Given the description of an element on the screen output the (x, y) to click on. 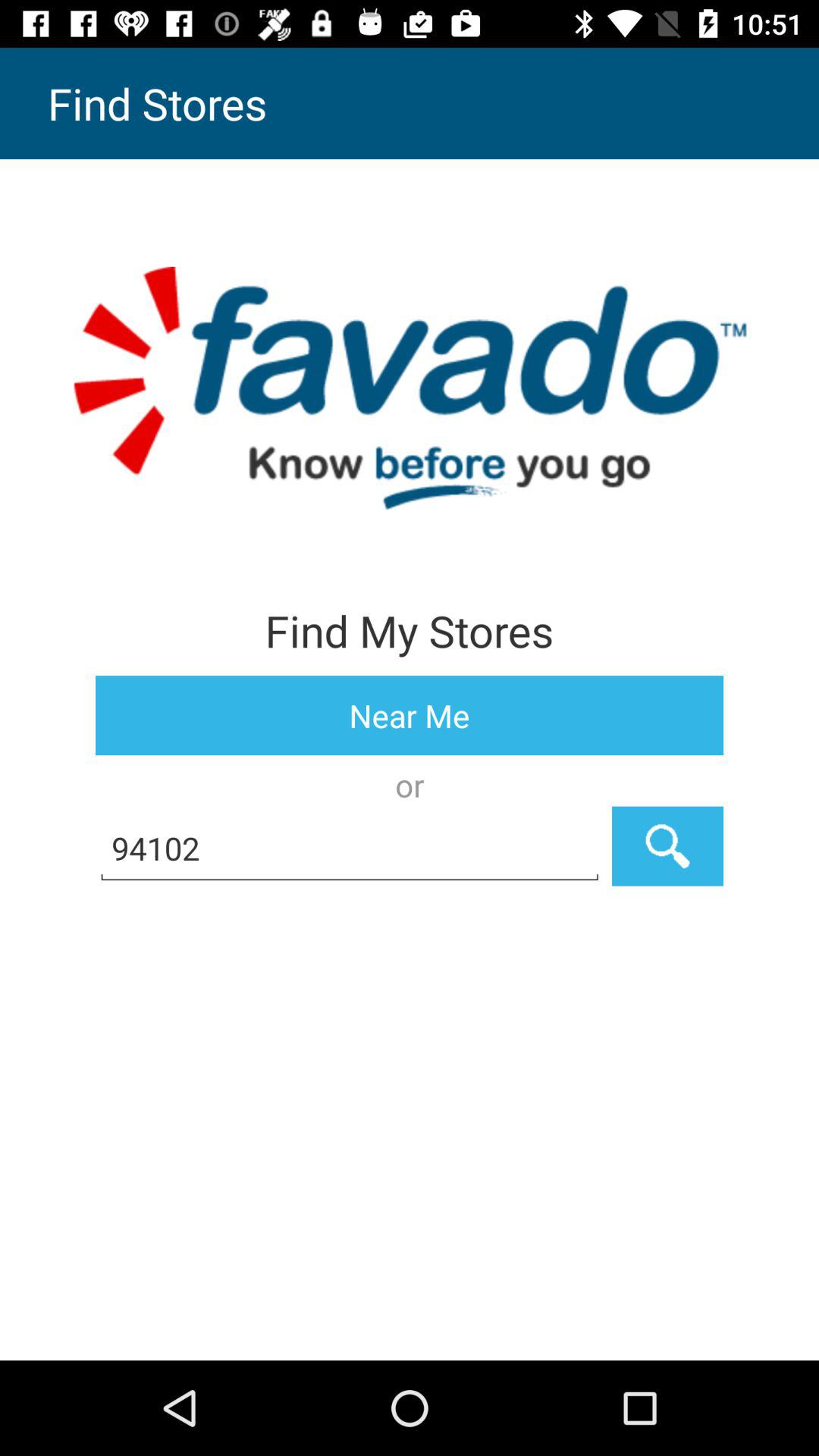
press 94102 icon (349, 846)
